Given the description of an element on the screen output the (x, y) to click on. 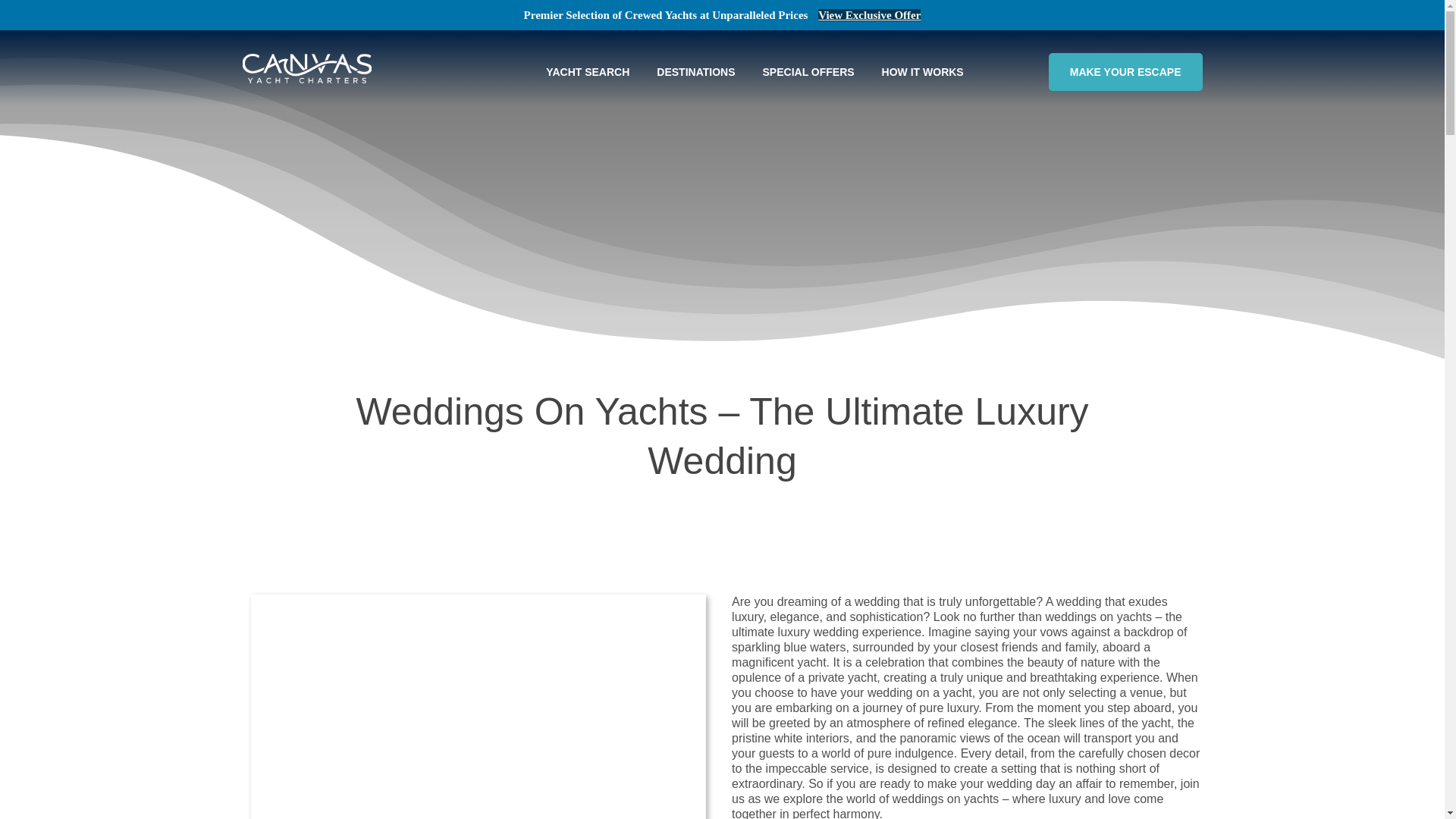
SPECIAL OFFERS (808, 71)
Popular Destinations That Our Guests Enjoy (695, 71)
DESTINATIONS (695, 71)
View Exclusive Offer (869, 15)
HOW IT WORKS (921, 71)
MAKE YOUR ESCAPE (1118, 71)
Weddings On Yachts (477, 708)
YACHT SEARCH (587, 71)
Your Adventure Starts Here (1118, 71)
Canvas Waves 2 (454, 544)
